Given the description of an element on the screen output the (x, y) to click on. 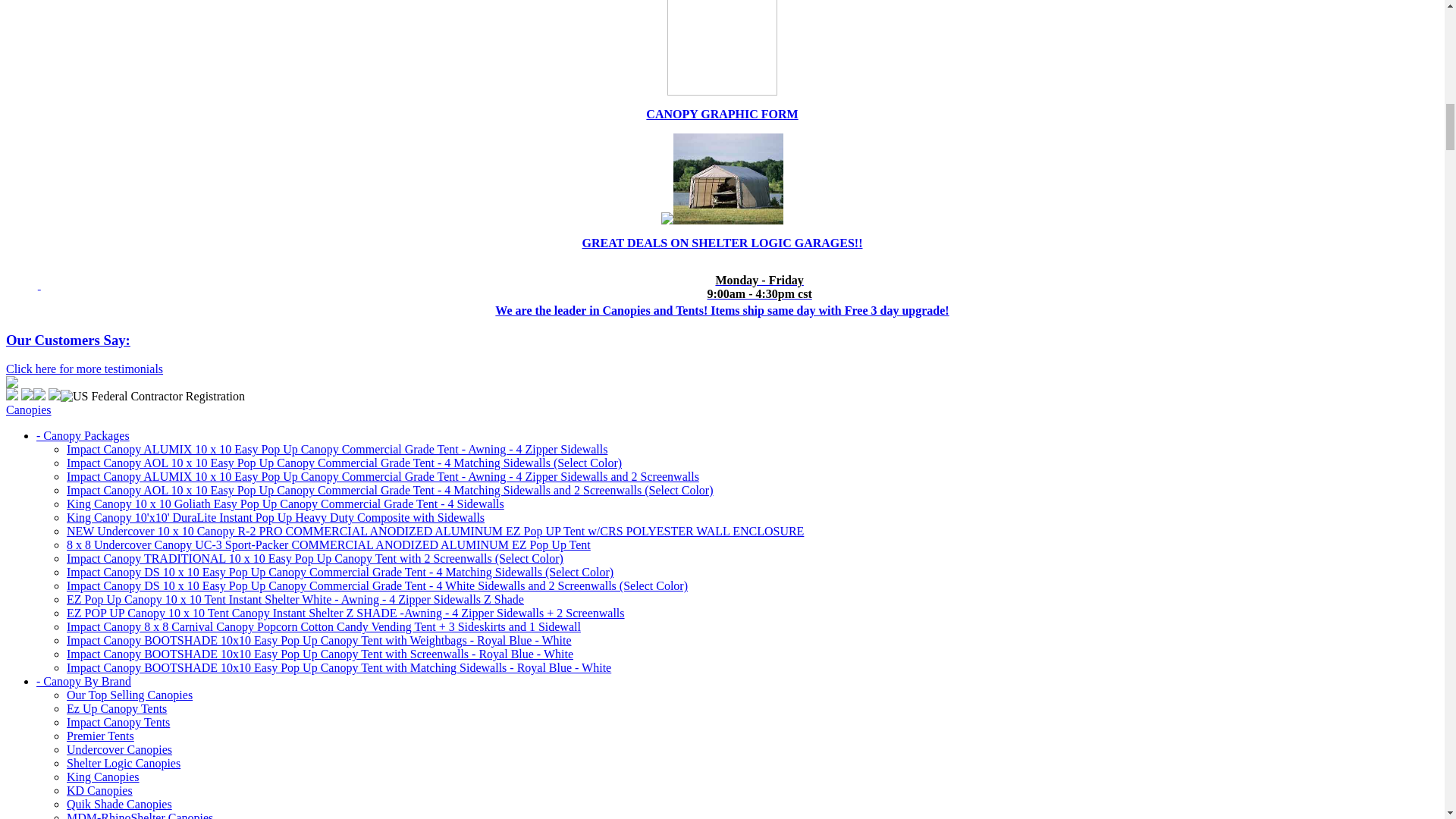
Click here for more testimonials (84, 368)
CANOPY GRAPHIC FORM (721, 113)
Our Customers Say: (68, 340)
